Given the description of an element on the screen output the (x, y) to click on. 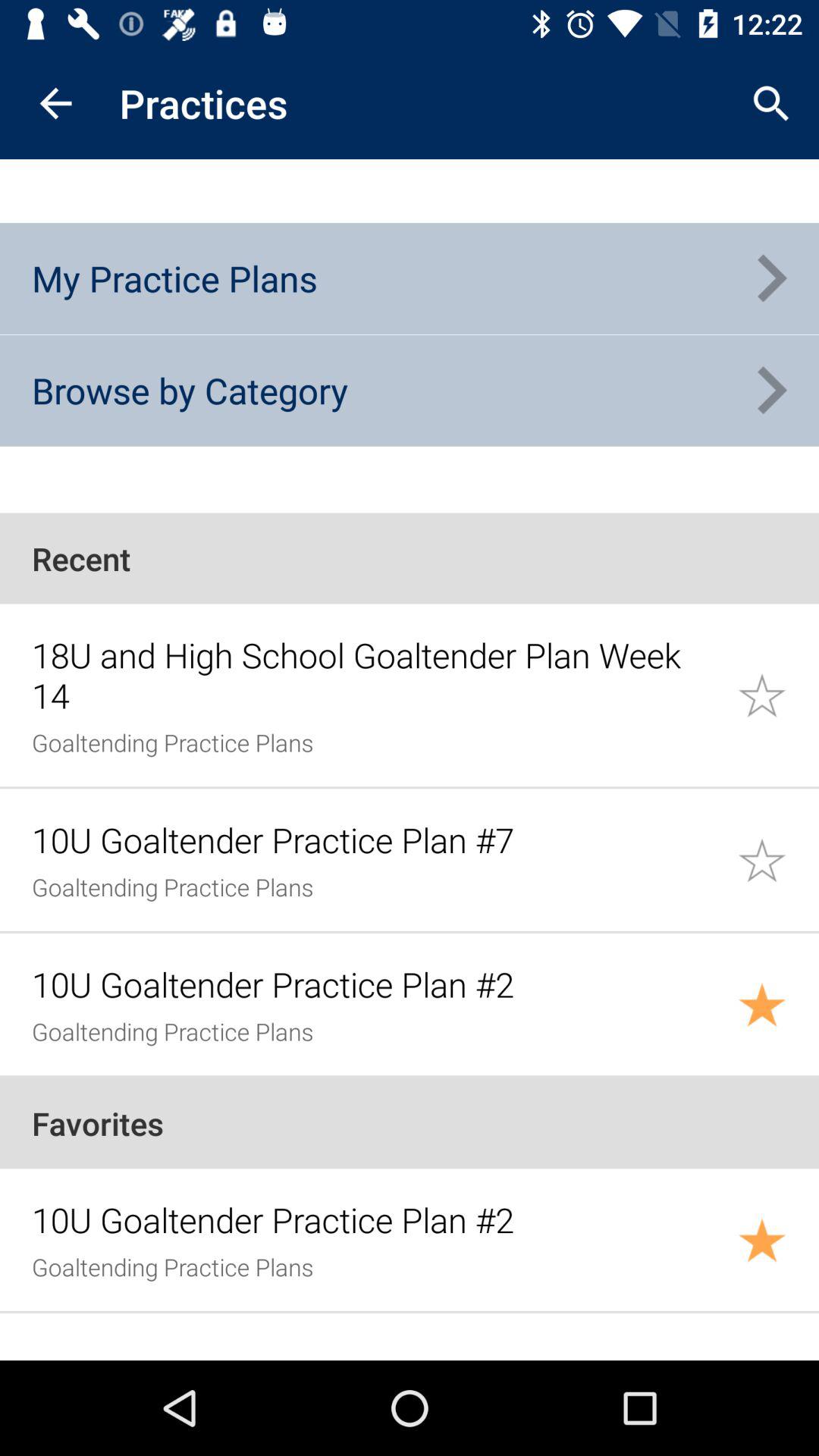
add to favorites (778, 694)
